Given the description of an element on the screen output the (x, y) to click on. 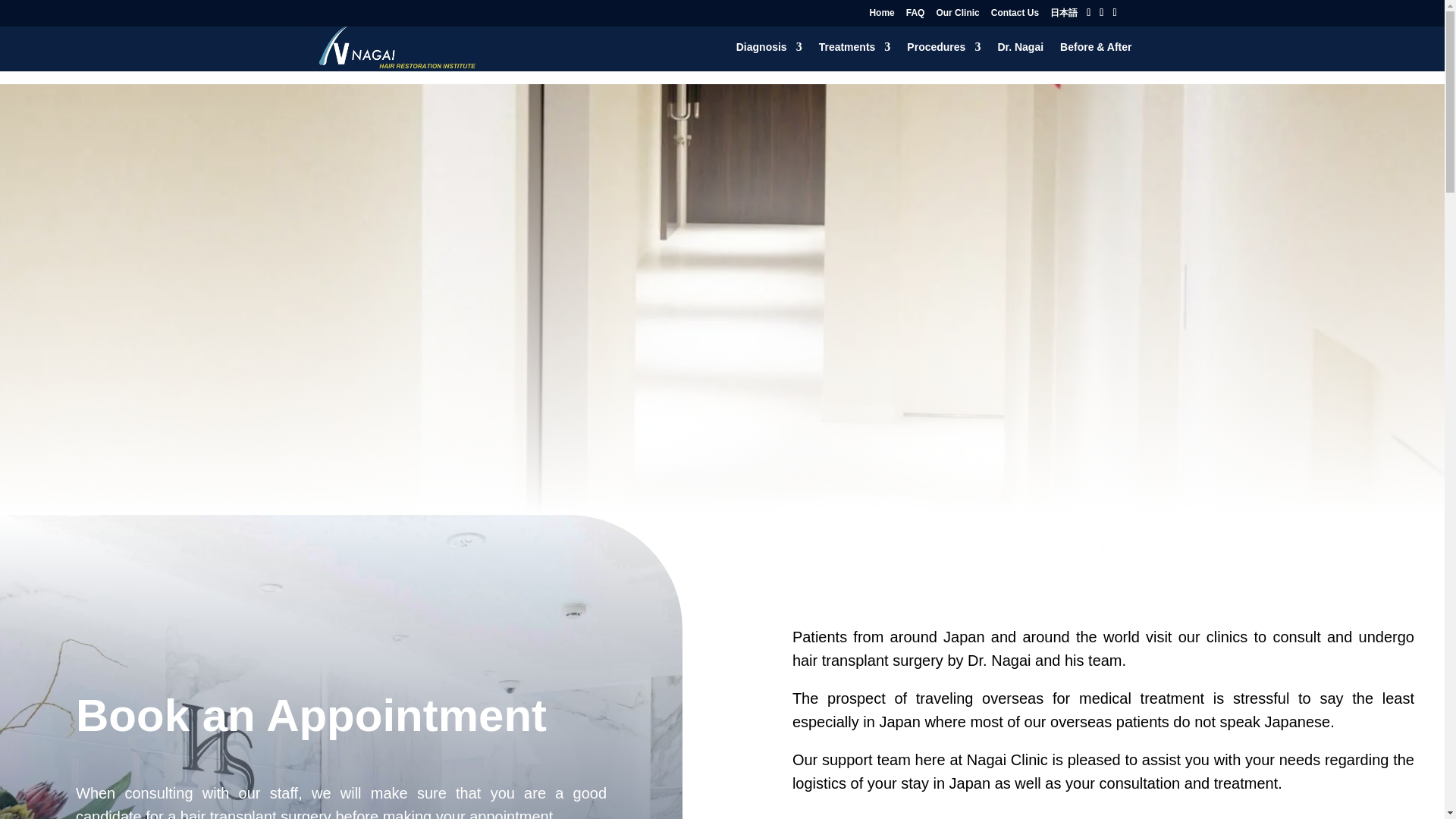
Diagnosis (769, 56)
Our Clinic (957, 16)
Treatments (854, 56)
Home (881, 16)
Procedures (943, 56)
Dr. Nagai (1020, 56)
FAQ (914, 16)
Contact Us (1015, 16)
